Given the description of an element on the screen output the (x, y) to click on. 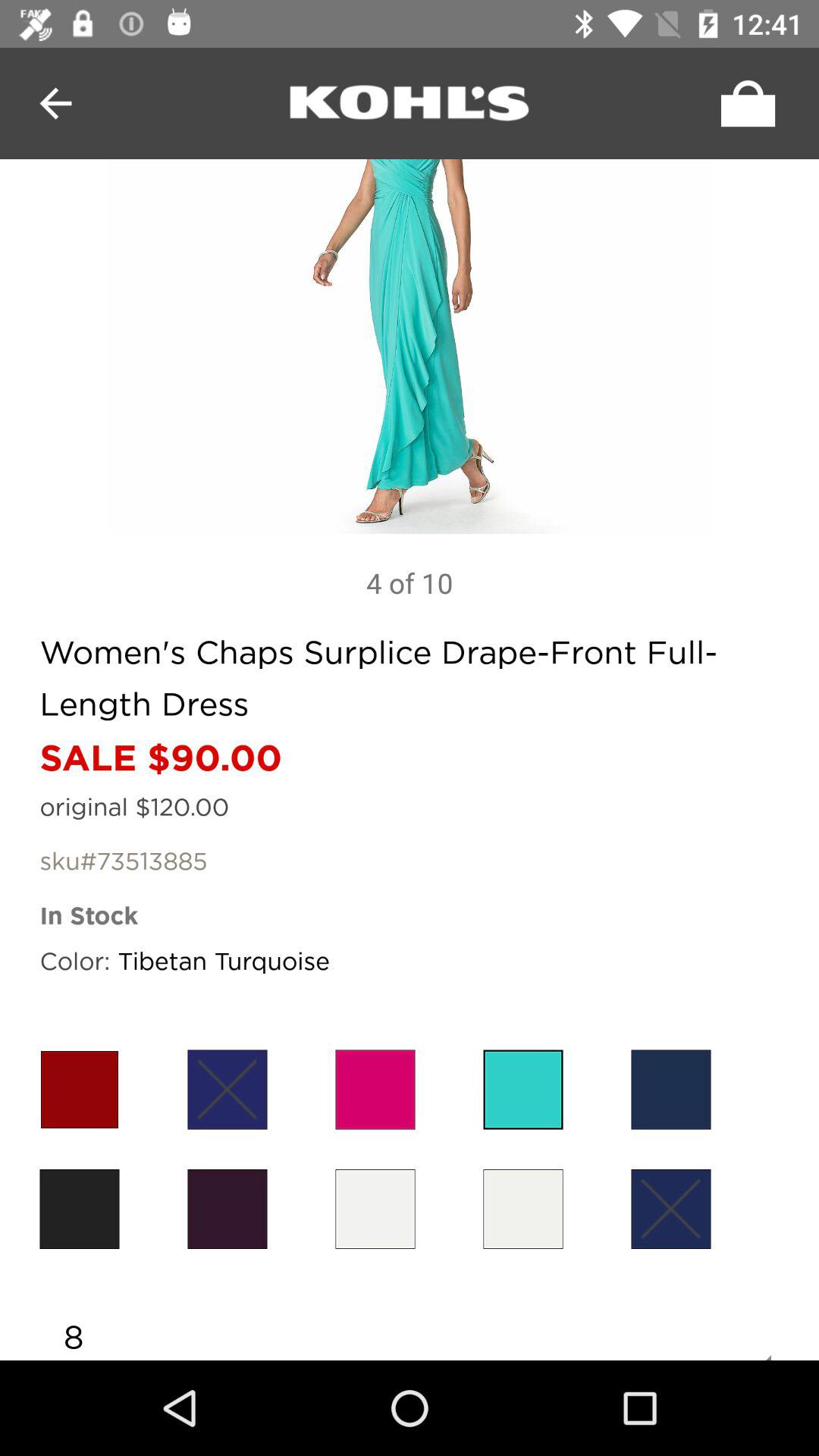
select blue color (670, 1089)
